Given the description of an element on the screen output the (x, y) to click on. 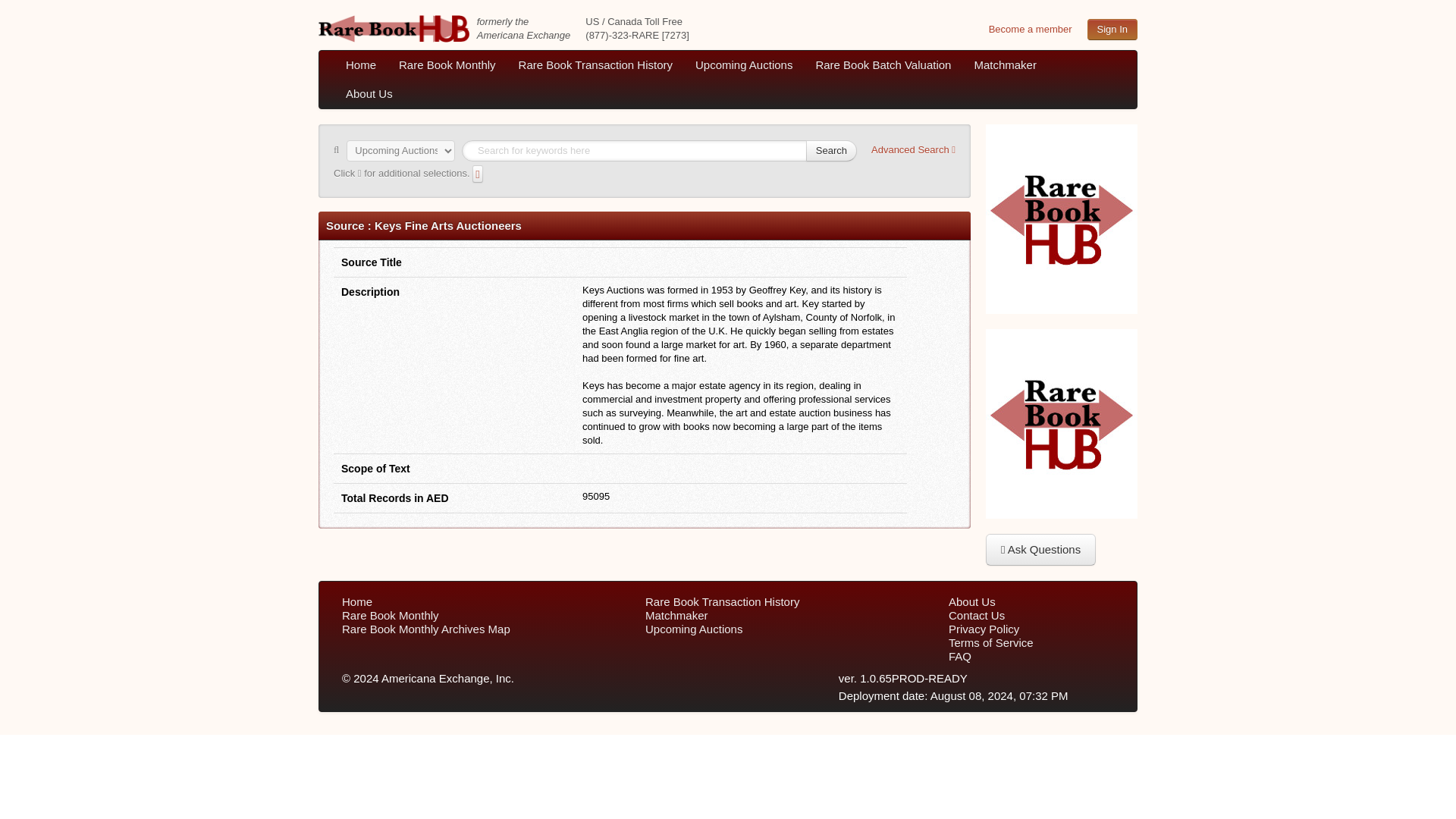
About Us (369, 93)
Sign In (1112, 29)
Upcoming Auctions (743, 64)
Home (360, 64)
Become a member (1029, 29)
Rare Book Batch Valuation (882, 64)
Rare Book Monthly (446, 64)
Advanced Search (912, 149)
Rare Book Transaction History (595, 64)
Matchmaker (1005, 64)
